Given the description of an element on the screen output the (x, y) to click on. 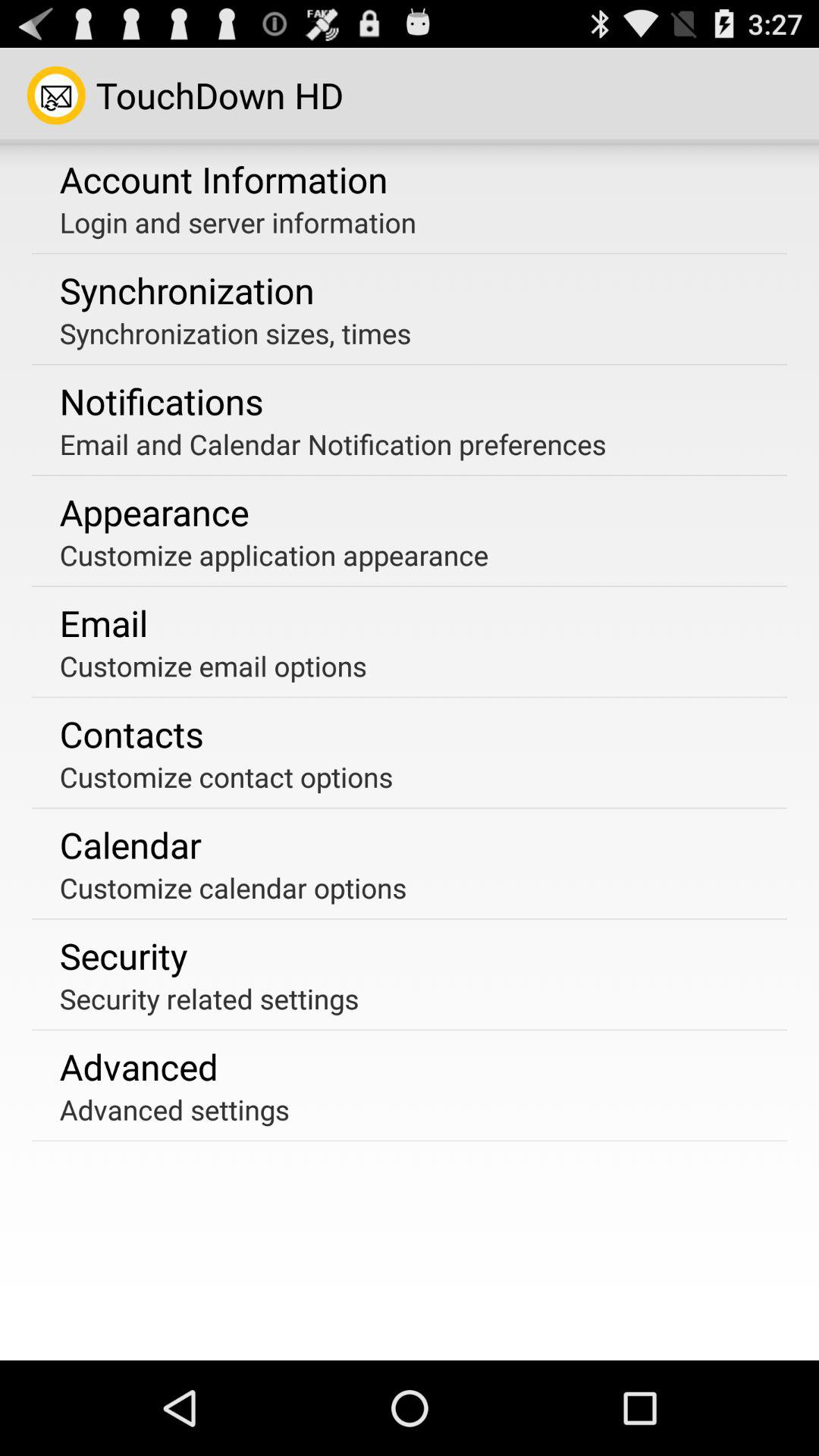
flip until the email and calendar (332, 443)
